Given the description of an element on the screen output the (x, y) to click on. 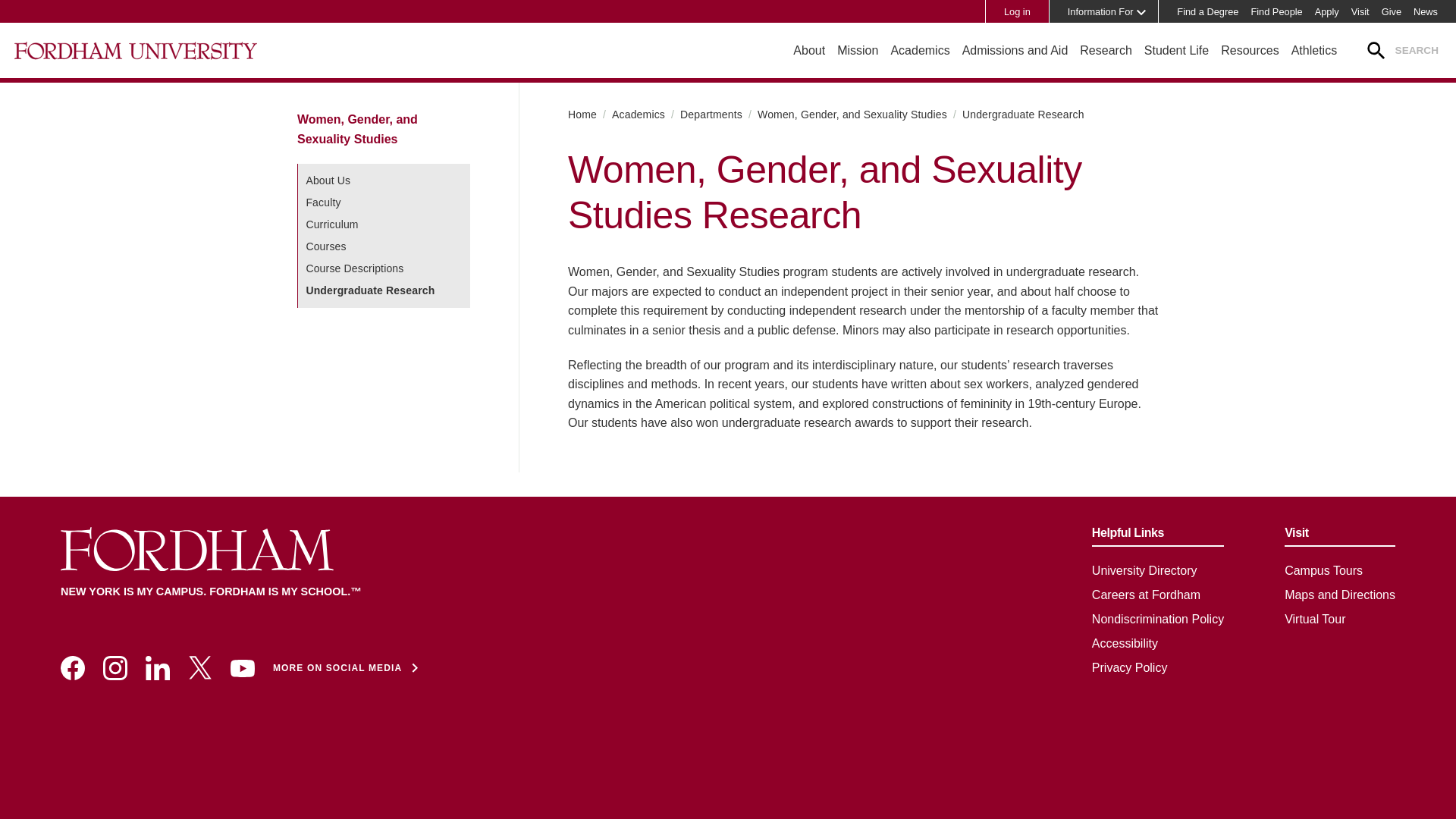
Apply (1326, 11)
Visit (1360, 11)
Give (1391, 11)
Find People (1275, 11)
Log in (1016, 11)
Mission (857, 49)
News (1425, 11)
Information for dropdown links (1138, 10)
Information For (1097, 11)
Search icon (1377, 51)
